Given the description of an element on the screen output the (x, y) to click on. 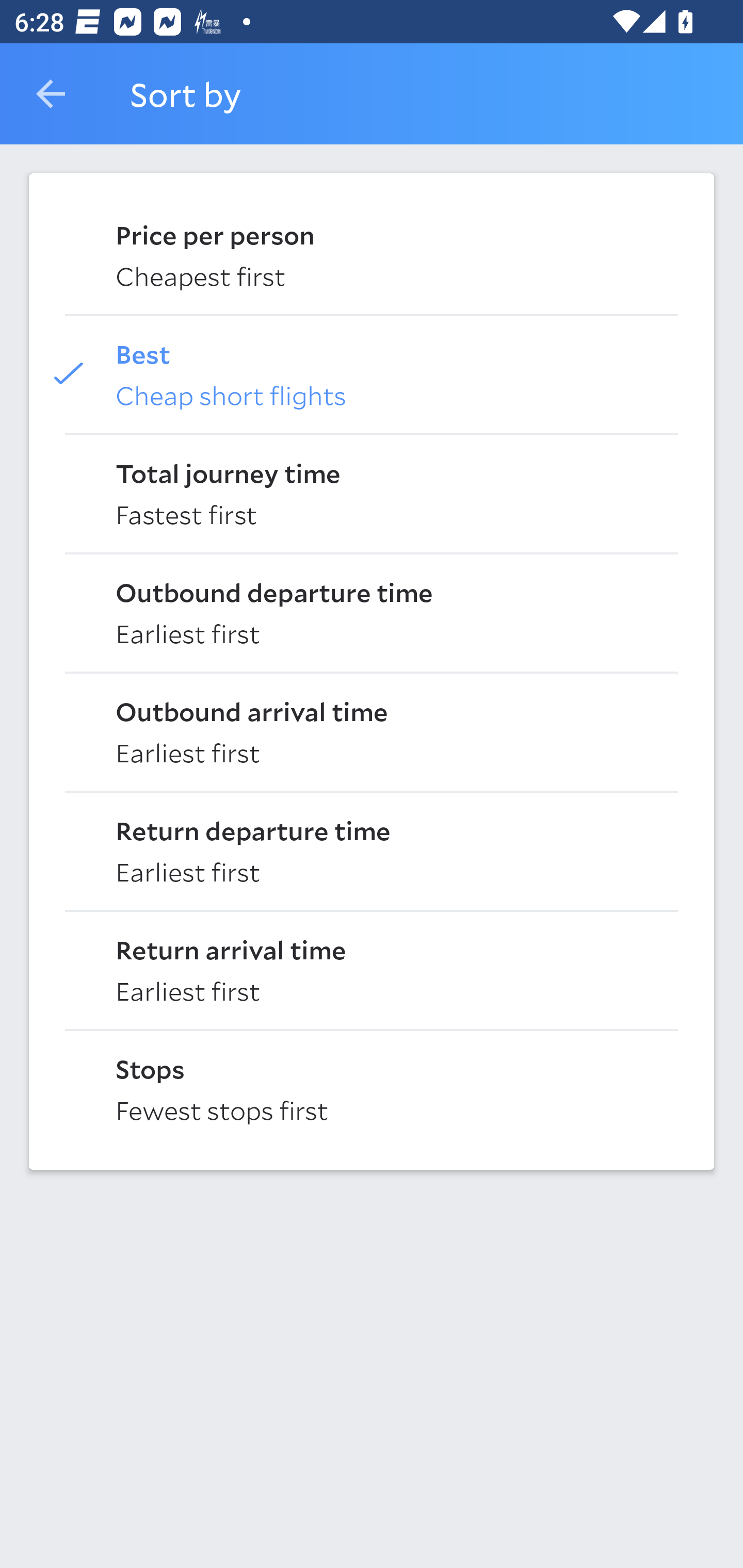
Navigate up (50, 93)
Price per person Cheapest first (371, 253)
Best Cheap short flights (371, 372)
Total journey time Fastest first (371, 491)
Outbound departure time Earliest first (371, 611)
Outbound arrival time Earliest first (371, 730)
Return departure time Earliest first (371, 849)
Return arrival time Earliest first (371, 968)
Stops Fewest stops first (371, 1087)
